Given the description of an element on the screen output the (x, y) to click on. 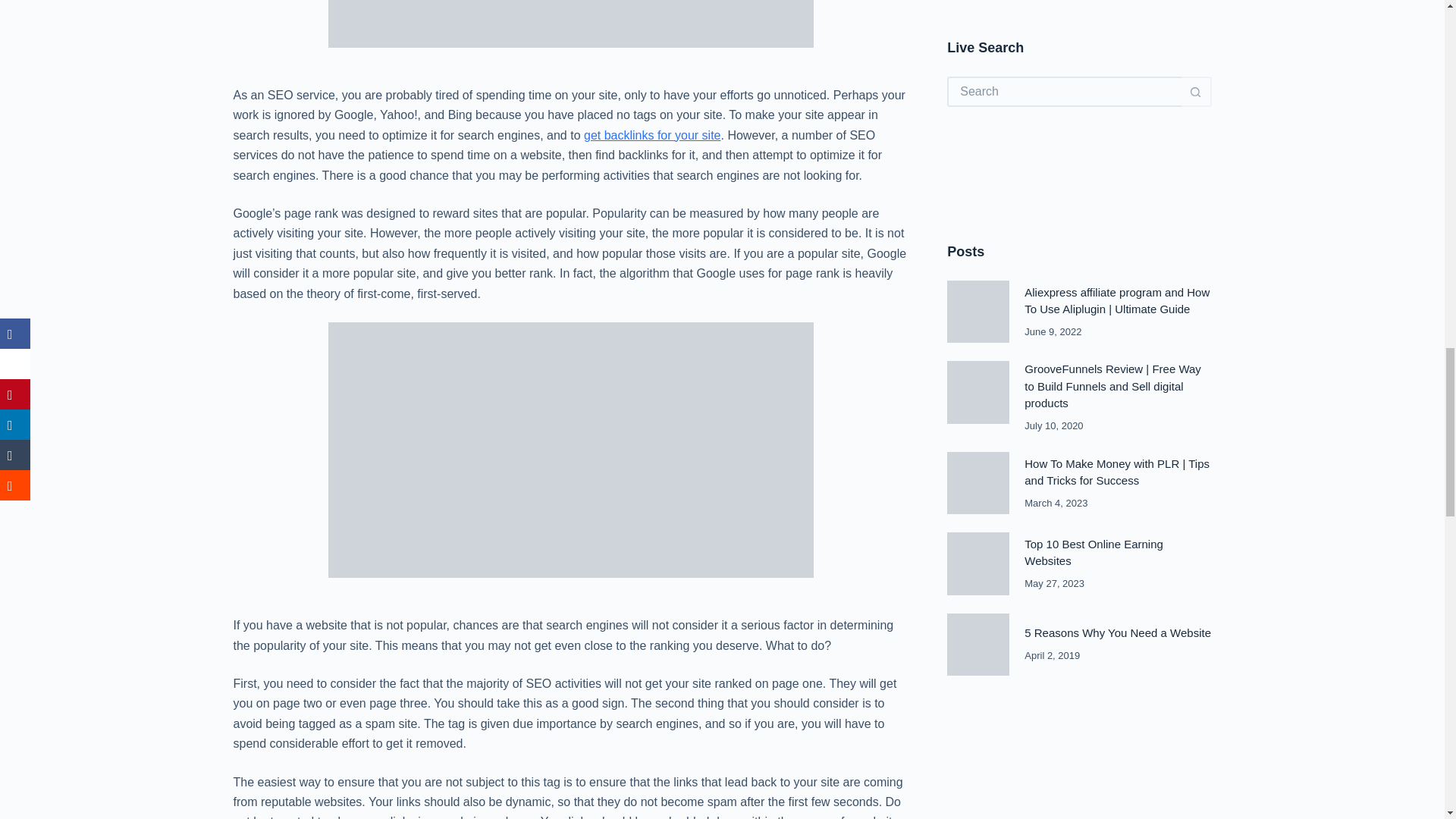
get backlinks for your site (651, 134)
